Given the description of an element on the screen output the (x, y) to click on. 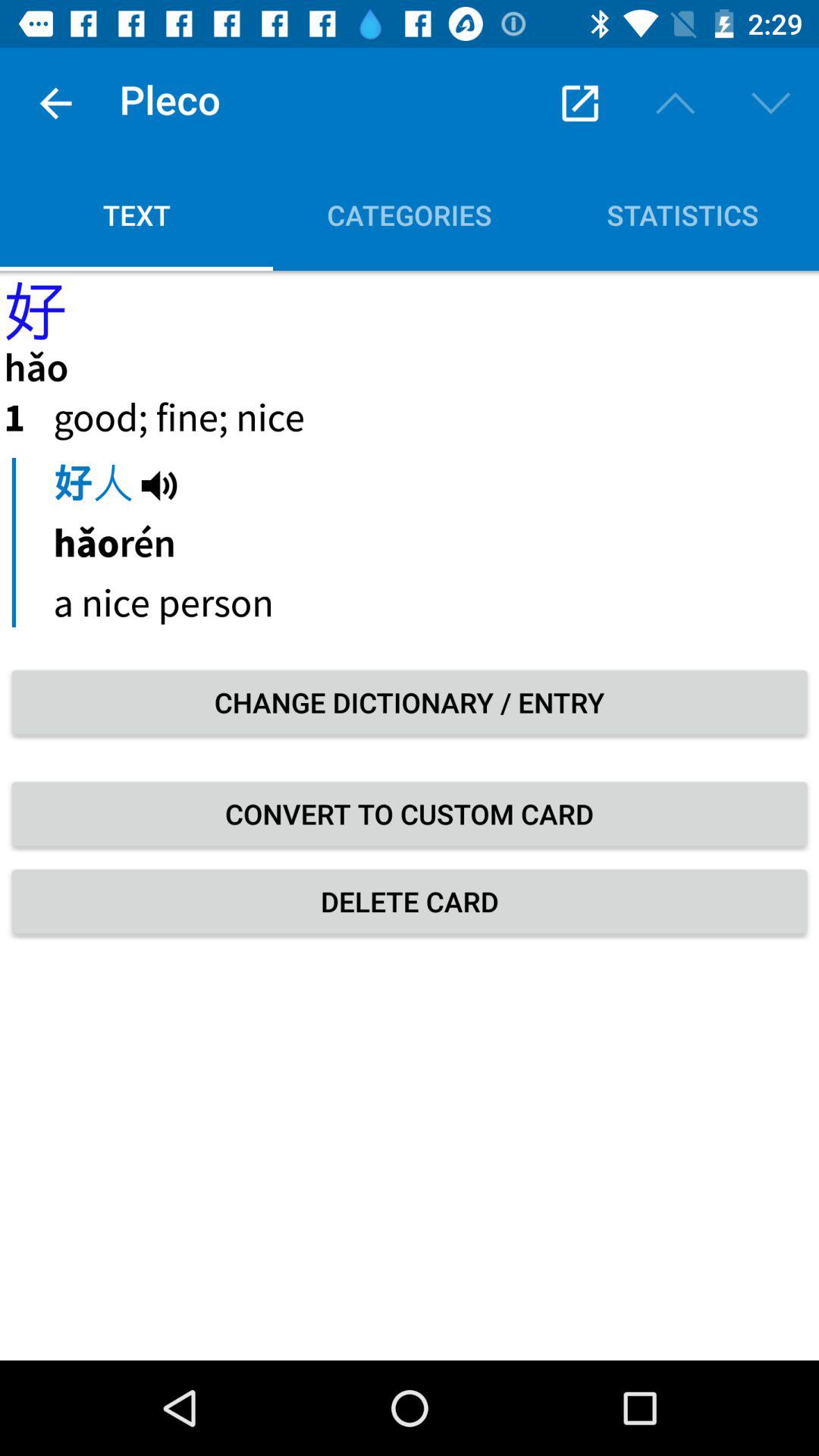
click icon below convert to custom item (409, 901)
